Given the description of an element on the screen output the (x, y) to click on. 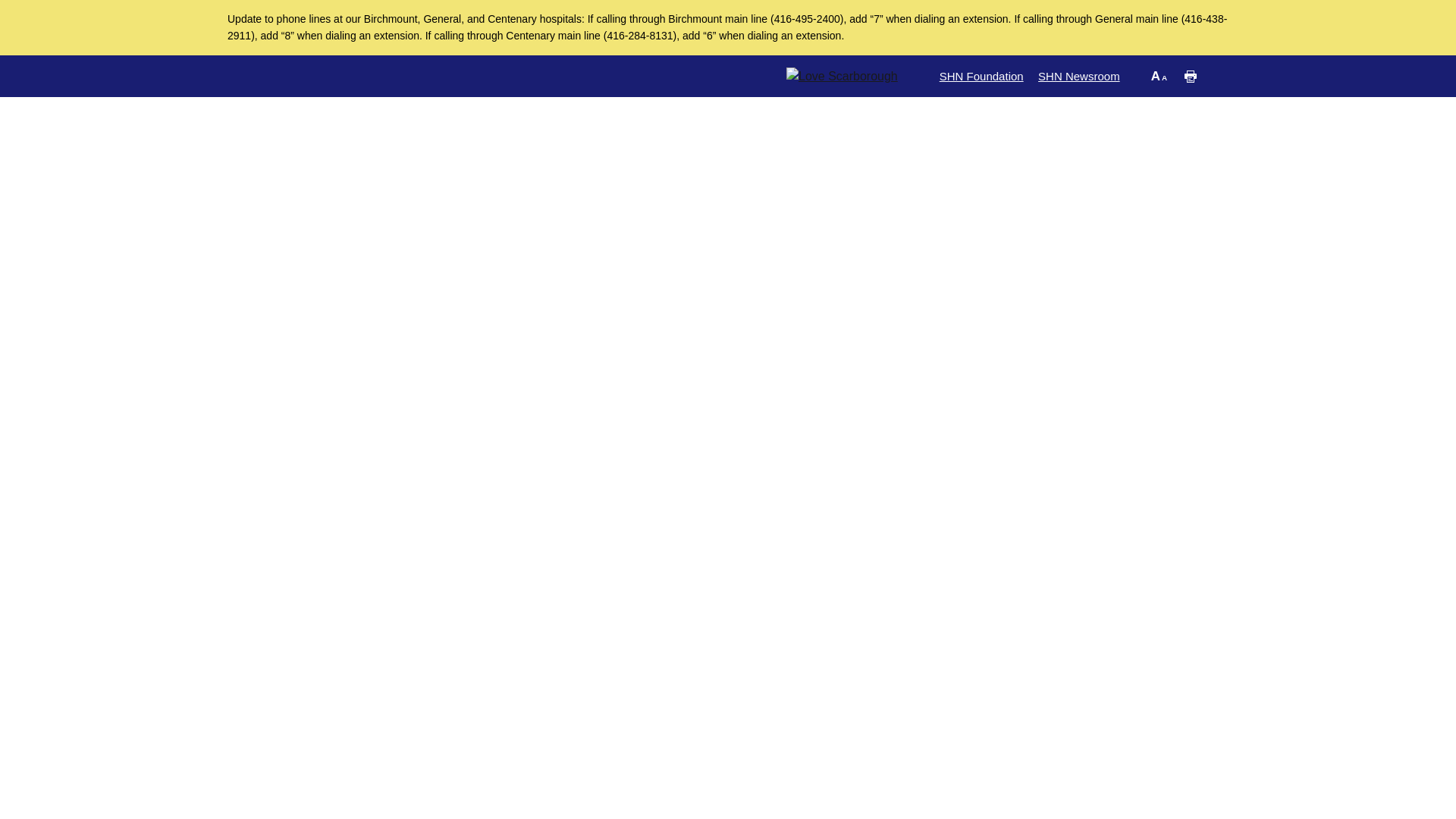
SHN Newsroom (1078, 75)
Print (1190, 75)
SHN Foundation (981, 75)
